Given the description of an element on the screen output the (x, y) to click on. 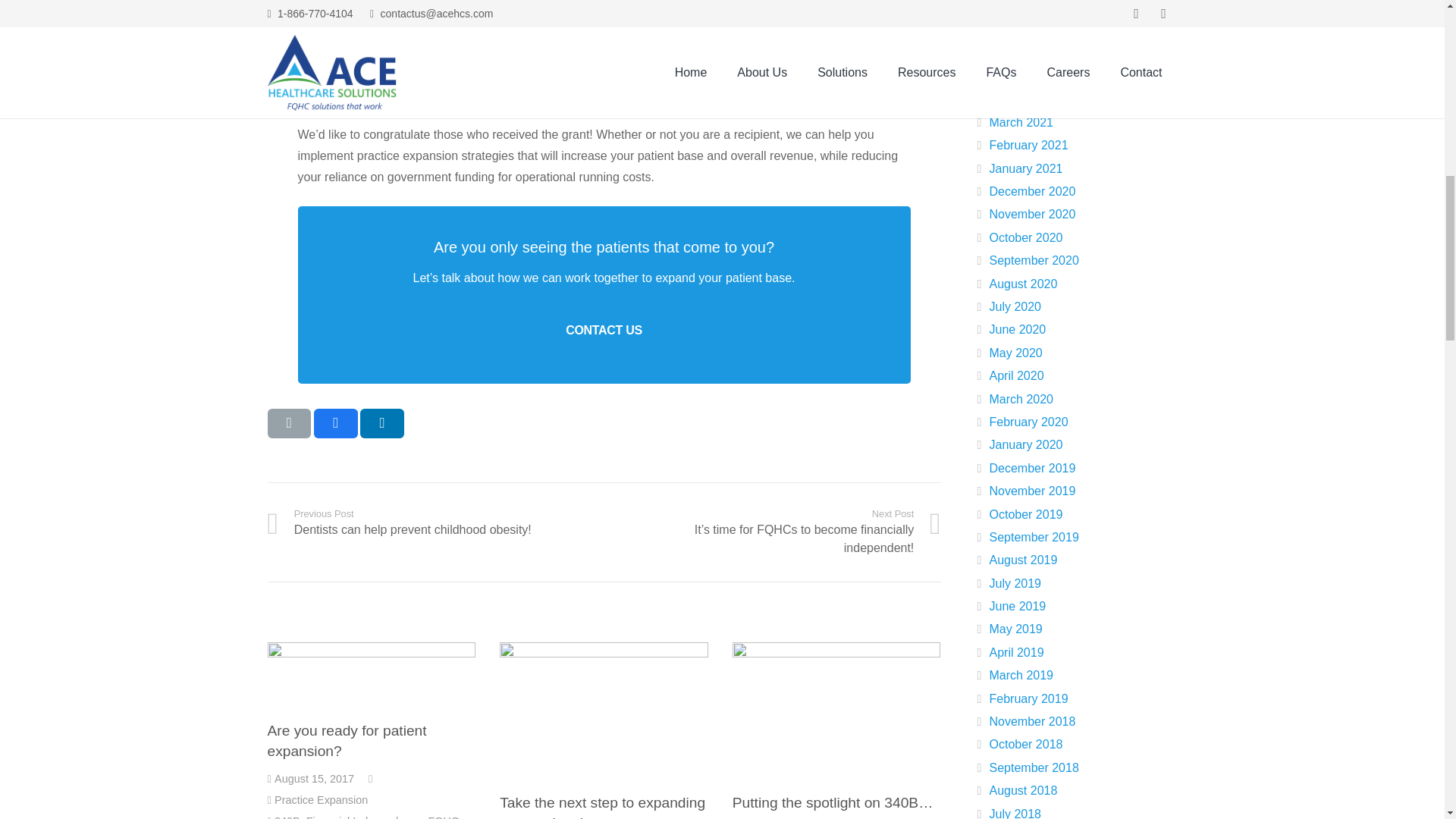
Email this (288, 422)
CONTACT US (603, 329)
Share this (336, 422)
340B (287, 816)
Are you ready for patient expansion? (346, 740)
Practice Expansion (435, 531)
Share this (321, 799)
